Given the description of an element on the screen output the (x, y) to click on. 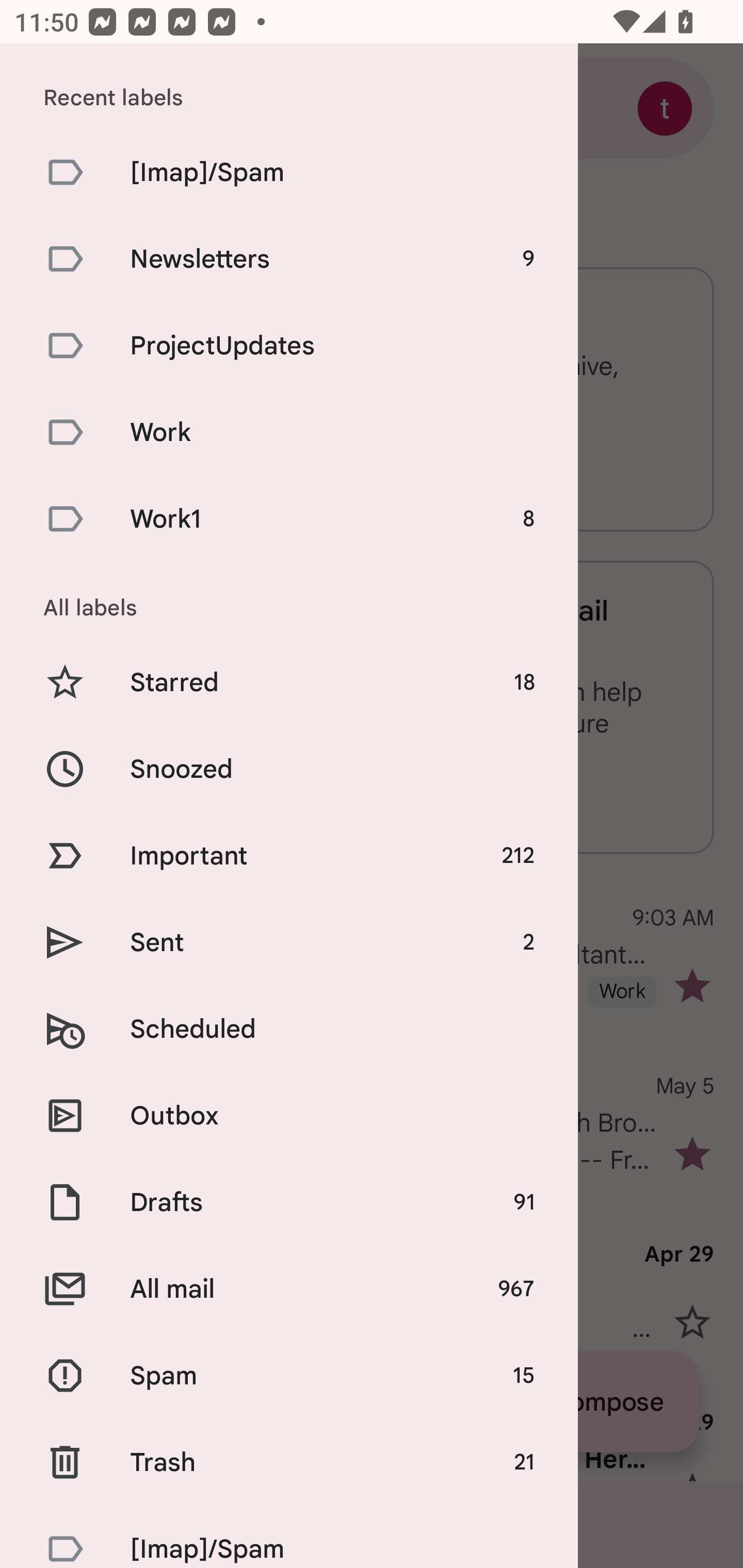
[Imap]/Spam (289, 172)
Newsletters 9 (289, 259)
ProjectUpdates (289, 345)
Work (289, 431)
Work1 8 (289, 518)
Starred 18 (289, 682)
Snoozed (289, 768)
Important 212 (289, 855)
Sent 2 (289, 942)
Scheduled (289, 1029)
Outbox (289, 1115)
Drafts 91 (289, 1201)
All mail 967 (289, 1288)
Spam 15 (289, 1375)
Trash 21 (289, 1462)
[Imap]/Spam (289, 1536)
